Given the description of an element on the screen output the (x, y) to click on. 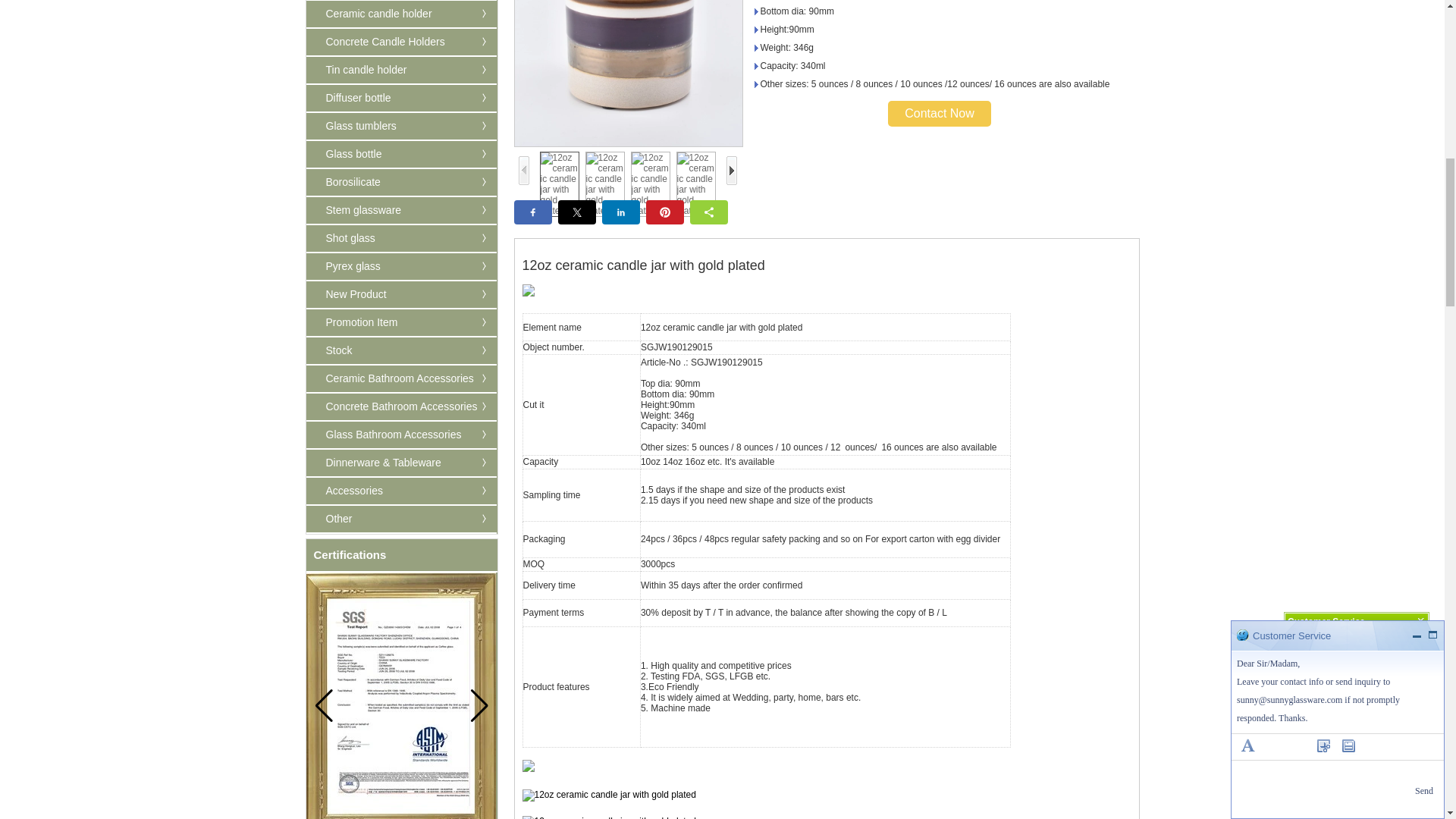
China Concrete Candle Holders manufacturer (375, 41)
China Tin candle holder manufacturer (356, 69)
China Diffuser bottle manufacturer (348, 97)
China Glass tumblers manufacturer (350, 125)
China Glass bottle manufacturer (343, 153)
China Ceramic candle holder manufacturer (368, 13)
